Given the description of an element on the screen output the (x, y) to click on. 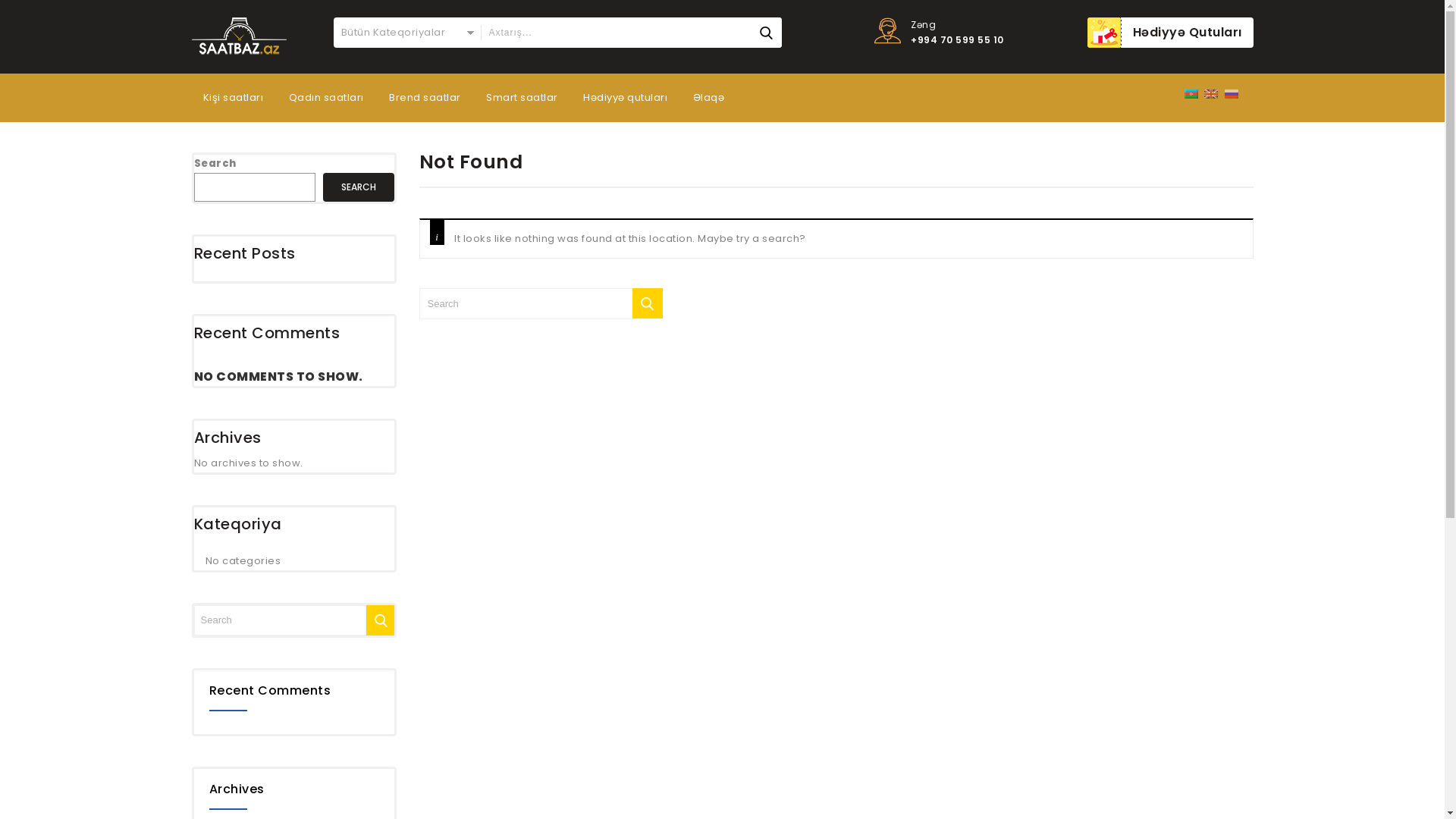
Brend saatlar Element type: text (424, 97)
English (en) Element type: hover (1210, 93)
Search for: Element type: hover (630, 32)
Search Element type: text (765, 32)
Go Element type: text (647, 303)
SEARCH Element type: text (358, 186)
SAATBAZ.az Element type: hover (238, 36)
Go Element type: text (381, 620)
Smart saatlar Element type: text (521, 97)
